Given the description of an element on the screen output the (x, y) to click on. 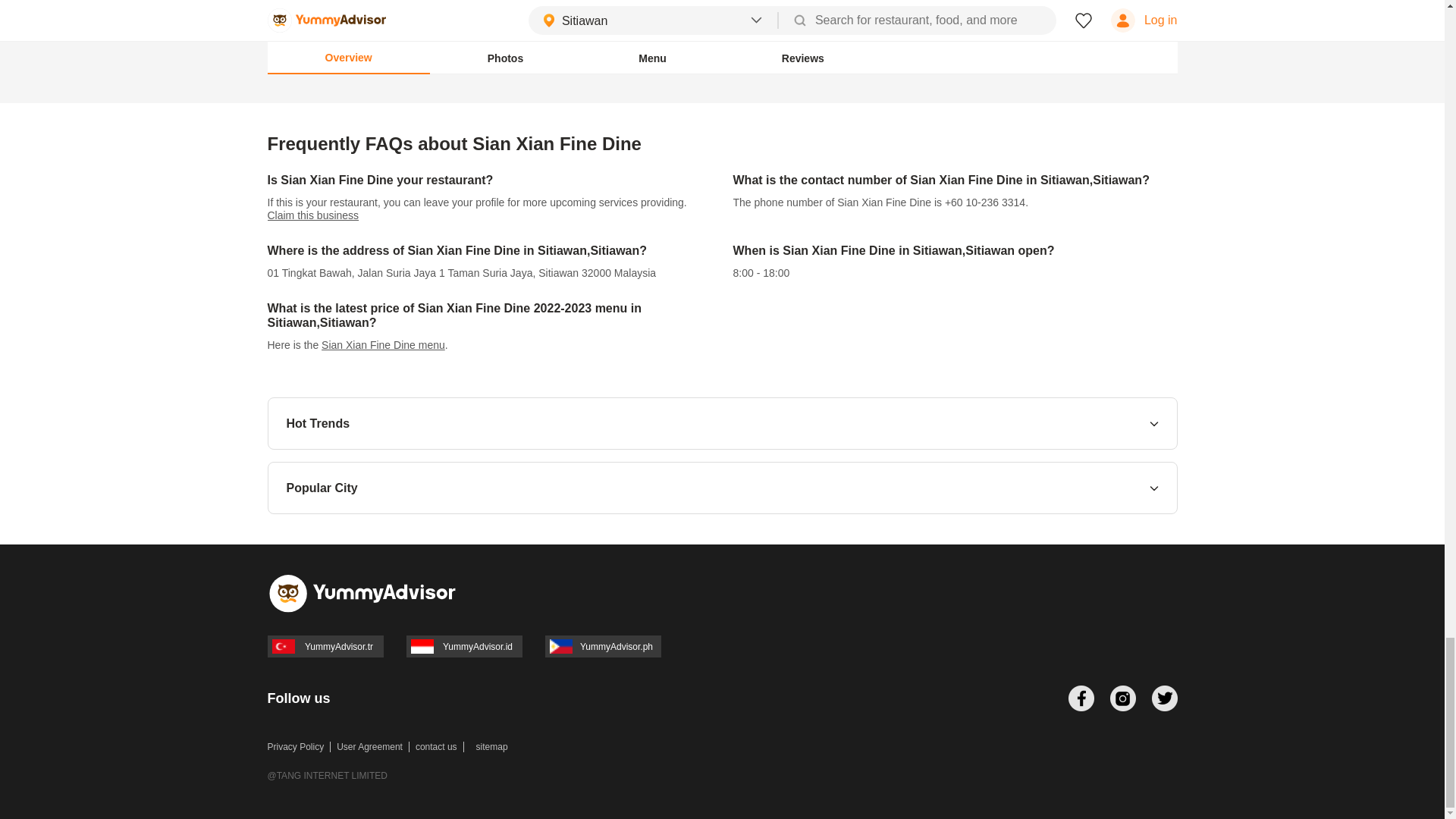
Sian Xian Fine Dine menu (383, 345)
Claim this business (312, 215)
